Given the description of an element on the screen output the (x, y) to click on. 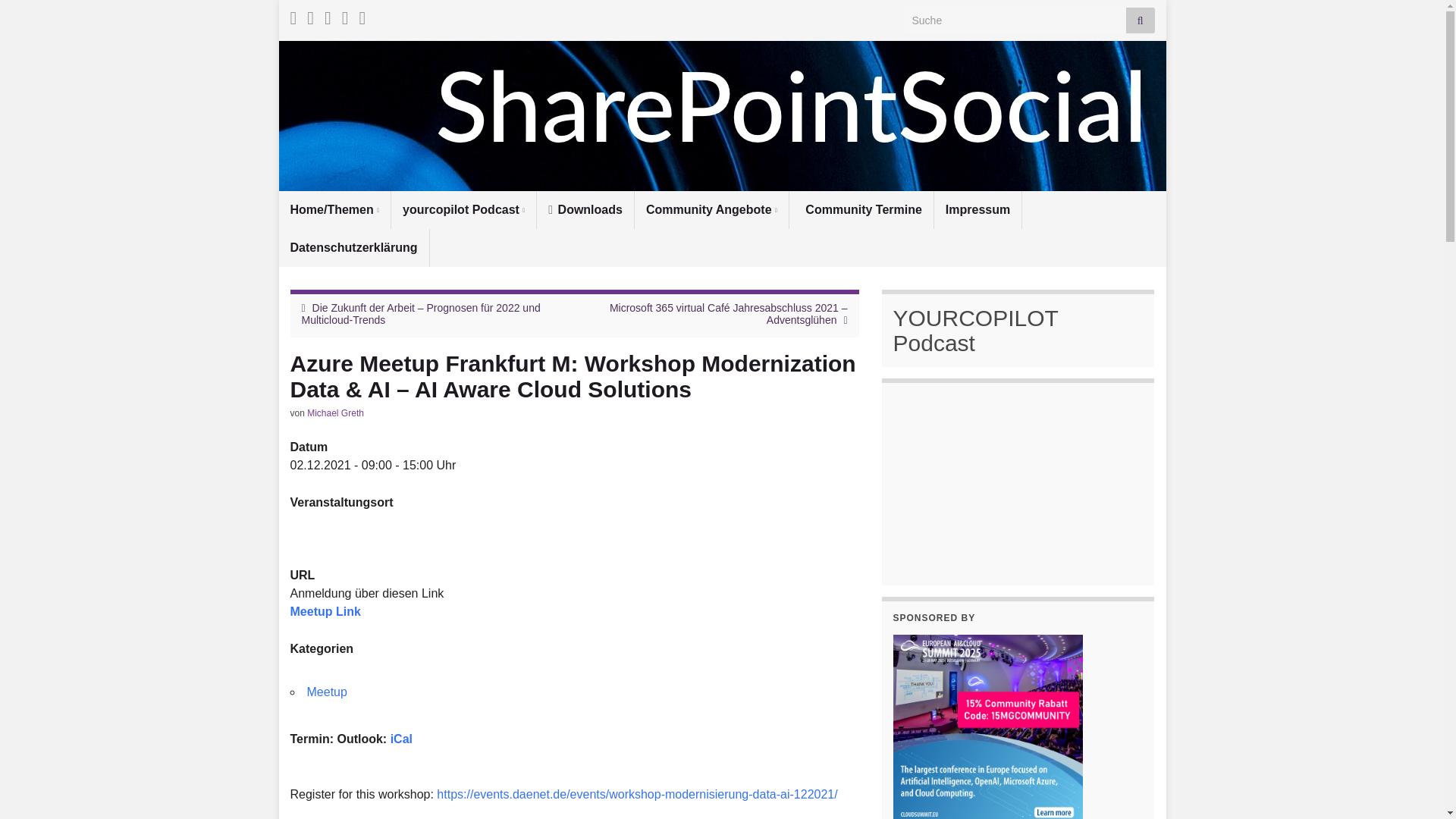
header2 (722, 115)
Community Termine (861, 209)
Meetup Link (324, 611)
Impressum (978, 209)
yourcopilot Podcast (463, 209)
Michael Greth (335, 412)
Community Angebote (711, 209)
Downloads (585, 209)
